Given the description of an element on the screen output the (x, y) to click on. 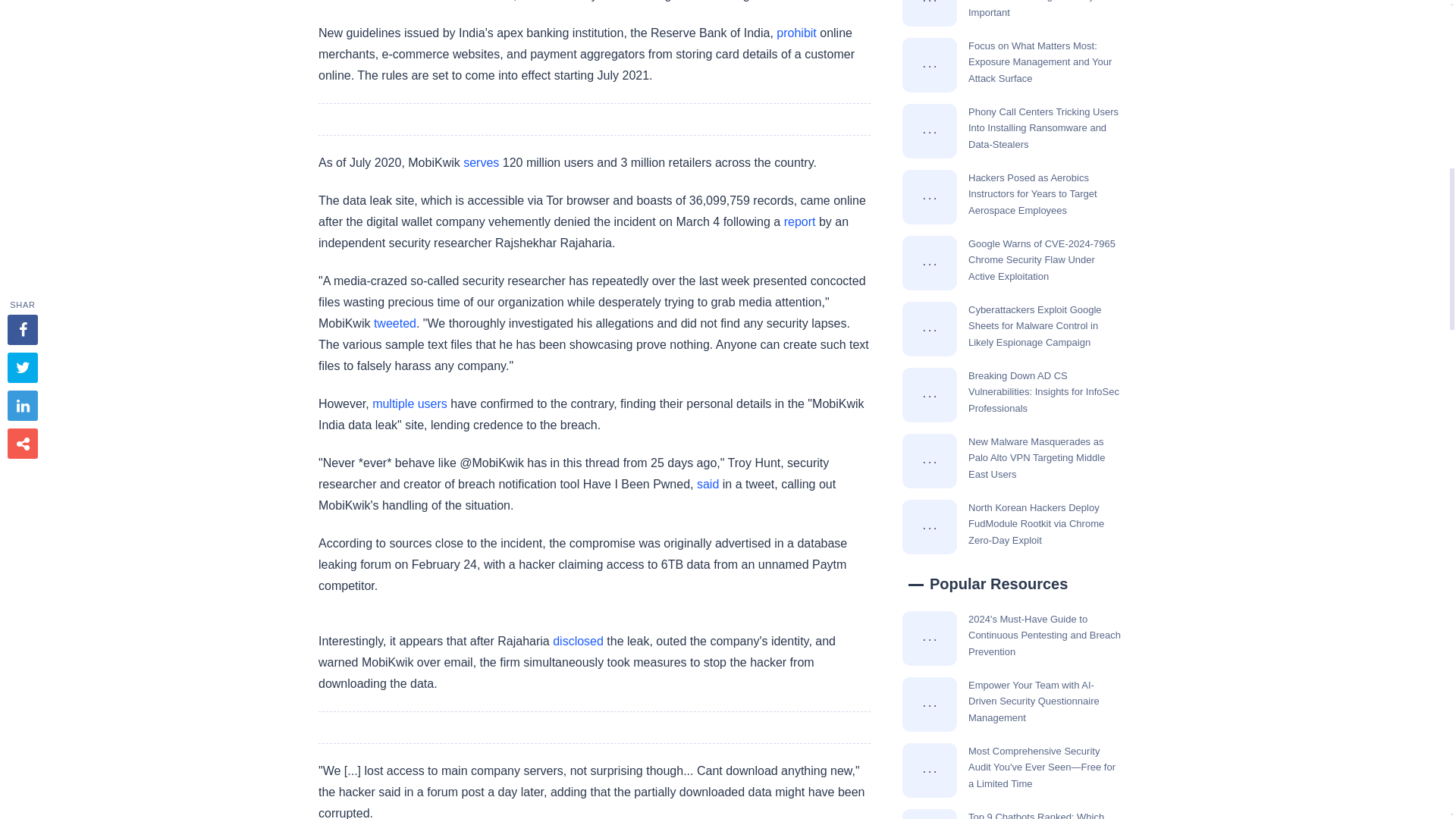
serves (481, 162)
